Given the description of an element on the screen output the (x, y) to click on. 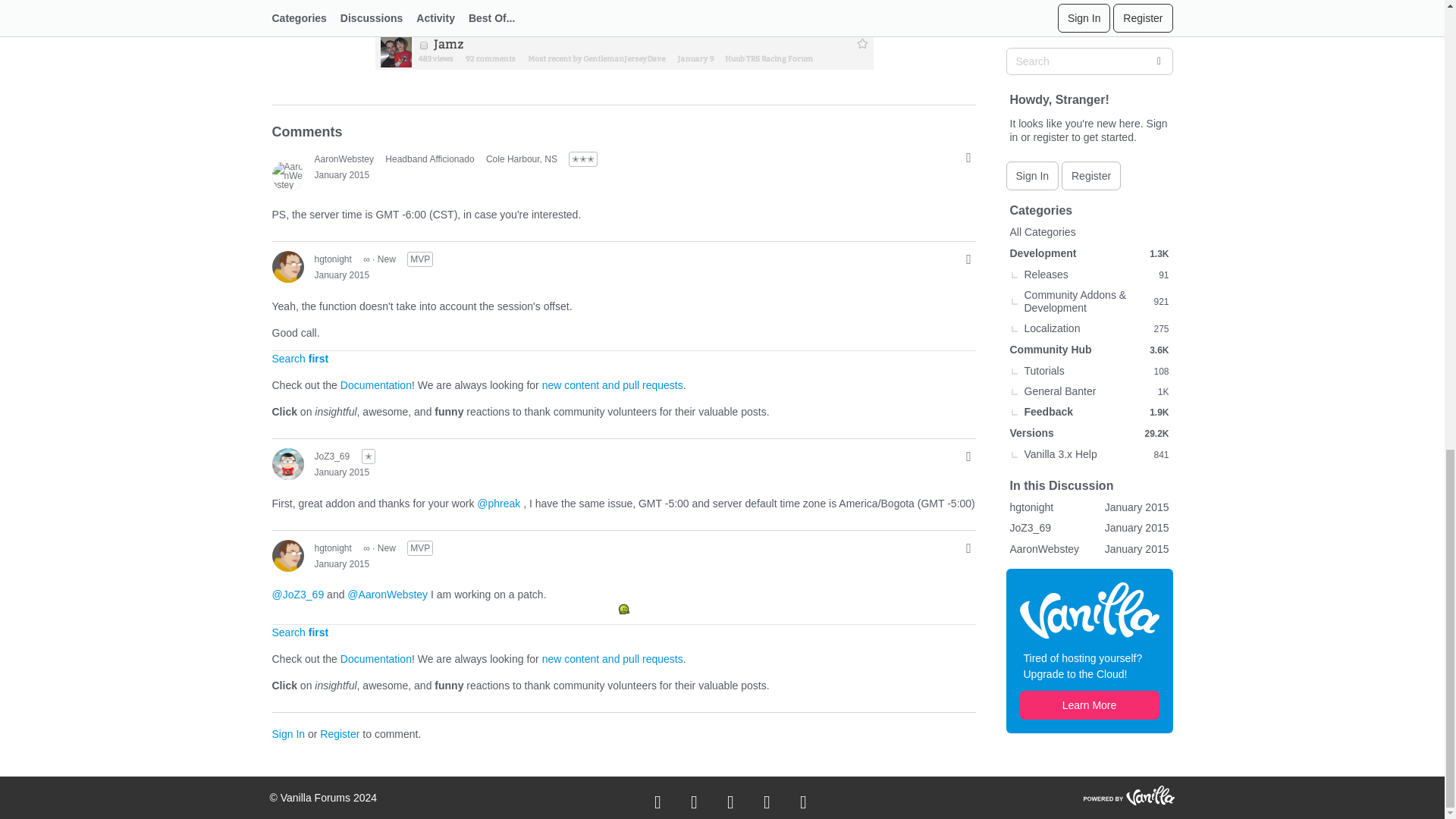
Level 3 (582, 159)
Documentation (376, 385)
Powered By Vanilla (1128, 795)
Search first (299, 358)
new content and pull requests (611, 385)
January 2015 (341, 174)
Most Valuable Poster (419, 258)
AaronWebstey (344, 158)
hgtonight (286, 266)
January 11, 2015 1:56AM (341, 275)
January 2015 (341, 275)
hgtonight (332, 259)
AaronWebstey (286, 174)
January 11, 2015 1:05AM (341, 174)
